Given the description of an element on the screen output the (x, y) to click on. 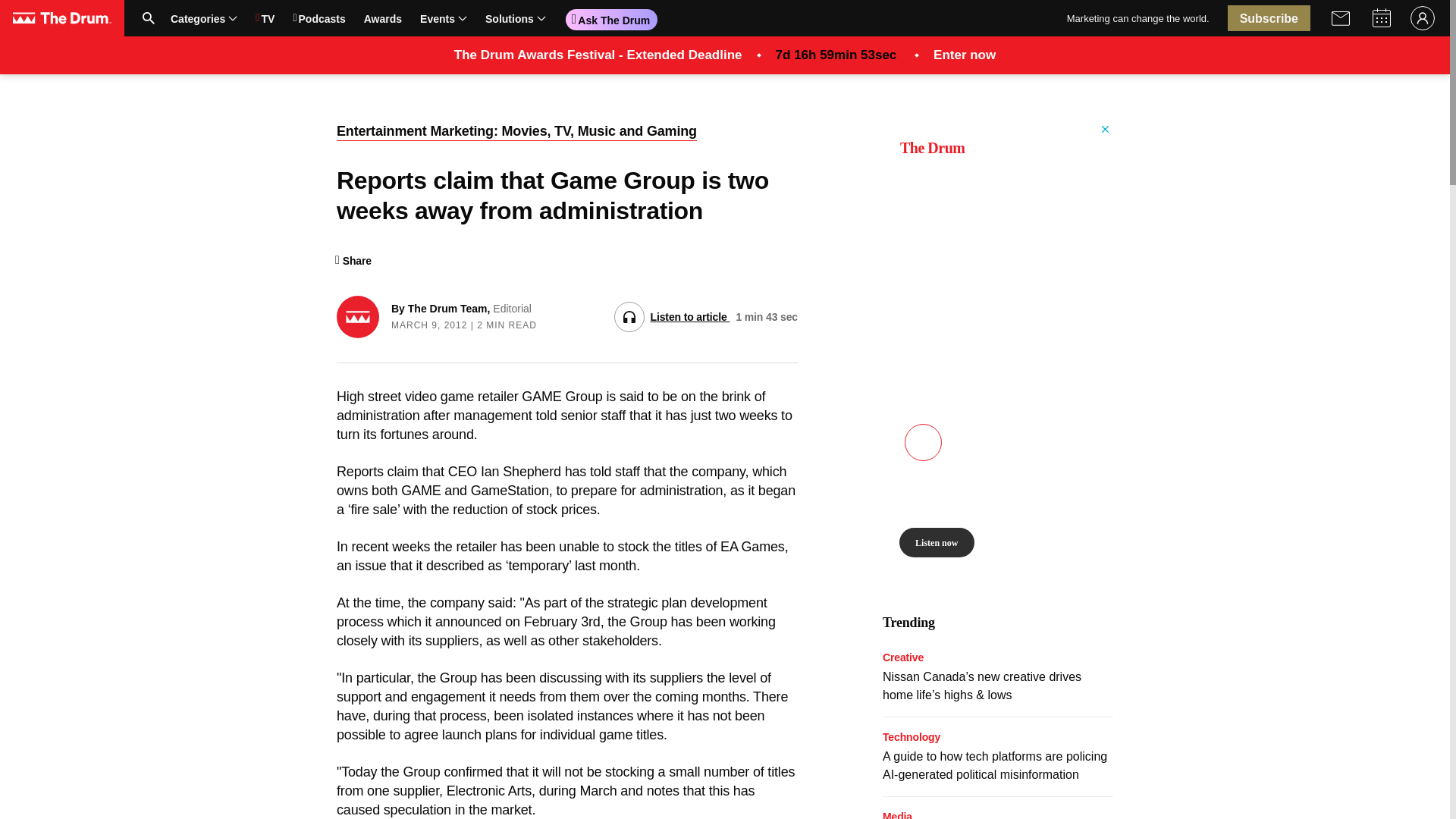
Categories (409, 18)
